Given the description of an element on the screen output the (x, y) to click on. 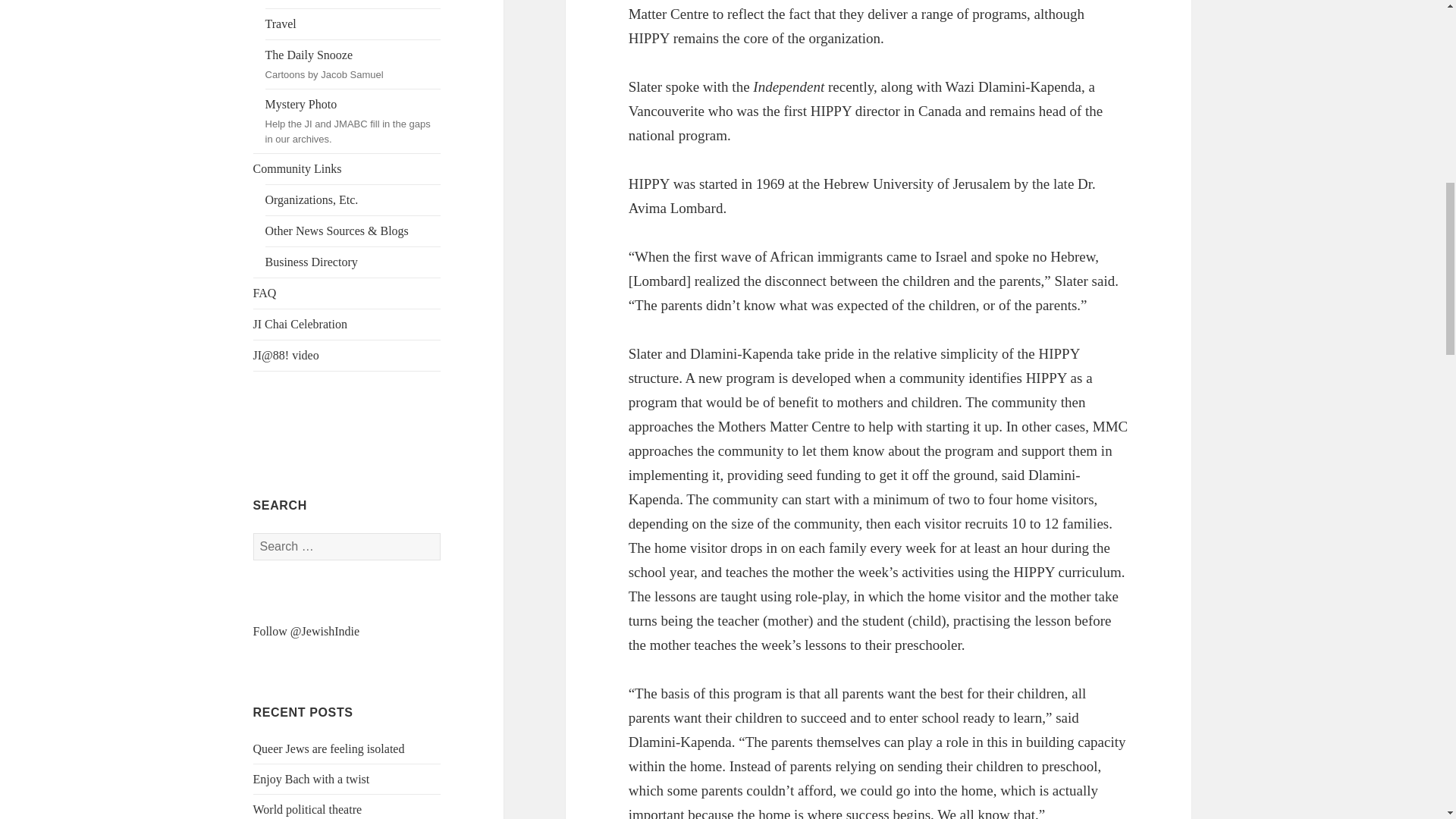
FAQ (347, 293)
Business Directory (352, 262)
JI Chai Celebration (347, 324)
Organizations, Etc. (352, 200)
Enjoy Bach with a twist (311, 779)
Travel (352, 24)
Search (352, 64)
Search (328, 748)
Celebrating the Holidays (347, 168)
World political theatre (352, 4)
Search (307, 809)
